Given the description of an element on the screen output the (x, y) to click on. 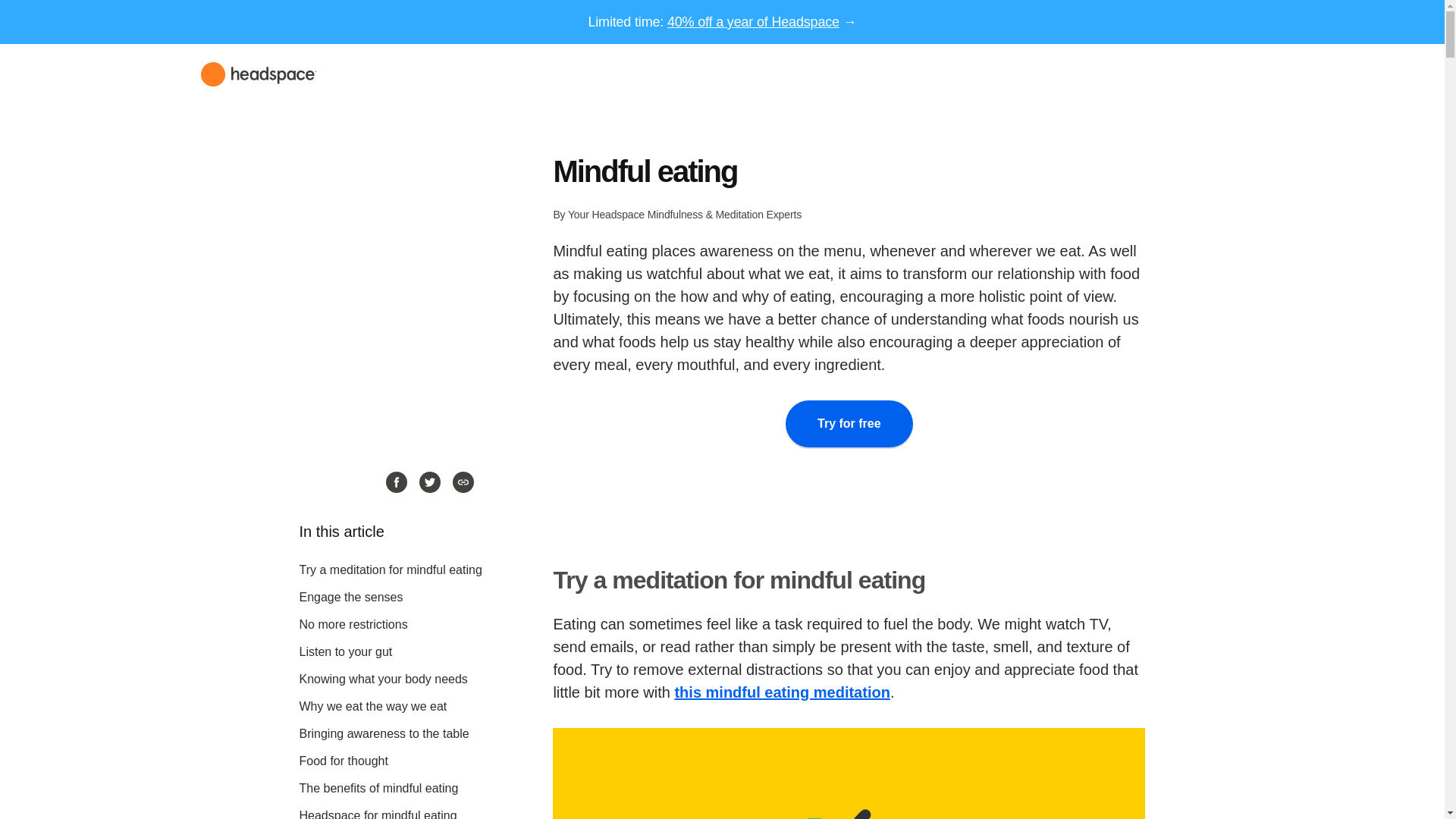
Listen to your gut (344, 651)
Why we eat the way we eat (372, 706)
Knowing what your body needs (382, 678)
Food for thought (342, 760)
Engage the senses (350, 596)
Try a meditation for mindful eating (389, 569)
Headspace for mindful eating (377, 814)
Bringing awareness to the table (383, 733)
The benefits of mindful eating (378, 788)
No more restrictions (352, 624)
